Given the description of an element on the screen output the (x, y) to click on. 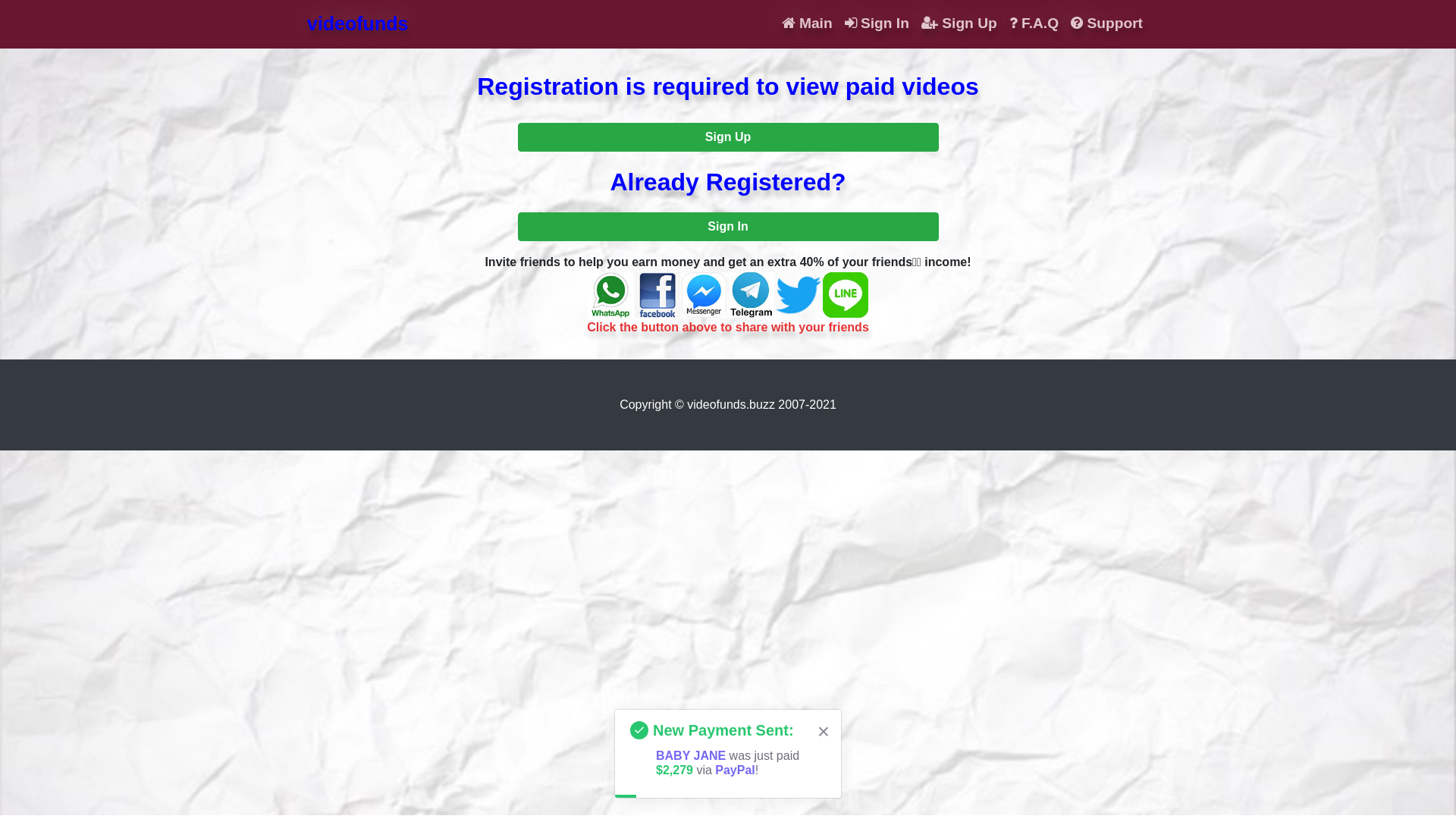
F.A.Q Element type: text (1033, 23)
Sign Up Element type: text (727, 136)
Sign Up Element type: text (959, 23)
Sign In Element type: text (727, 226)
Sign In Element type: text (876, 23)
Main Element type: text (806, 23)
videofunds Element type: text (357, 24)
Support Element type: text (1106, 23)
